Given the description of an element on the screen output the (x, y) to click on. 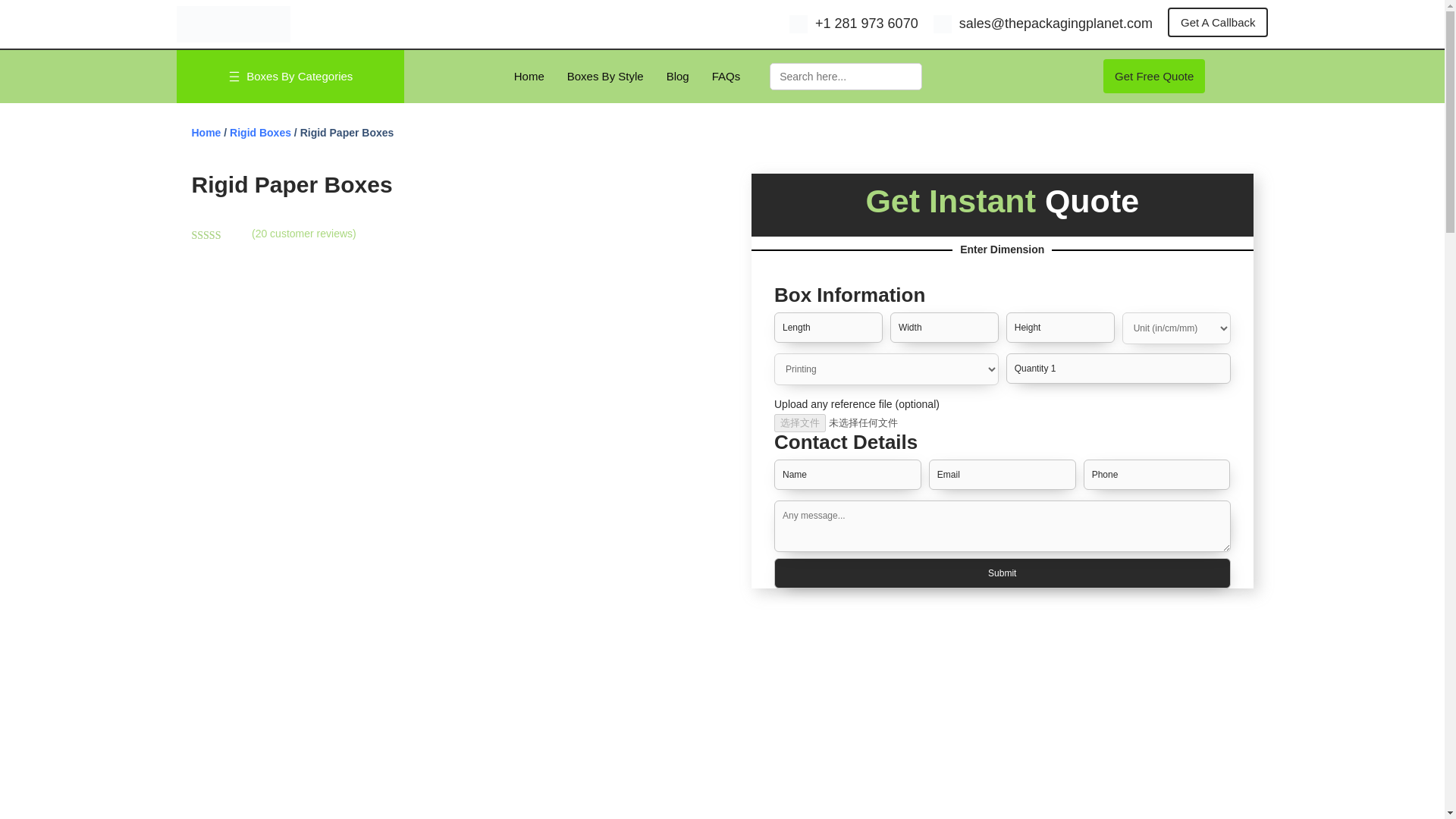
Blog (677, 79)
FAQs (726, 79)
Get Free Quote (1154, 76)
Boxes By Categories (299, 79)
Boxes By Style (605, 79)
Submit (1002, 572)
Home (528, 79)
Get A Callback (1217, 21)
